Given the description of an element on the screen output the (x, y) to click on. 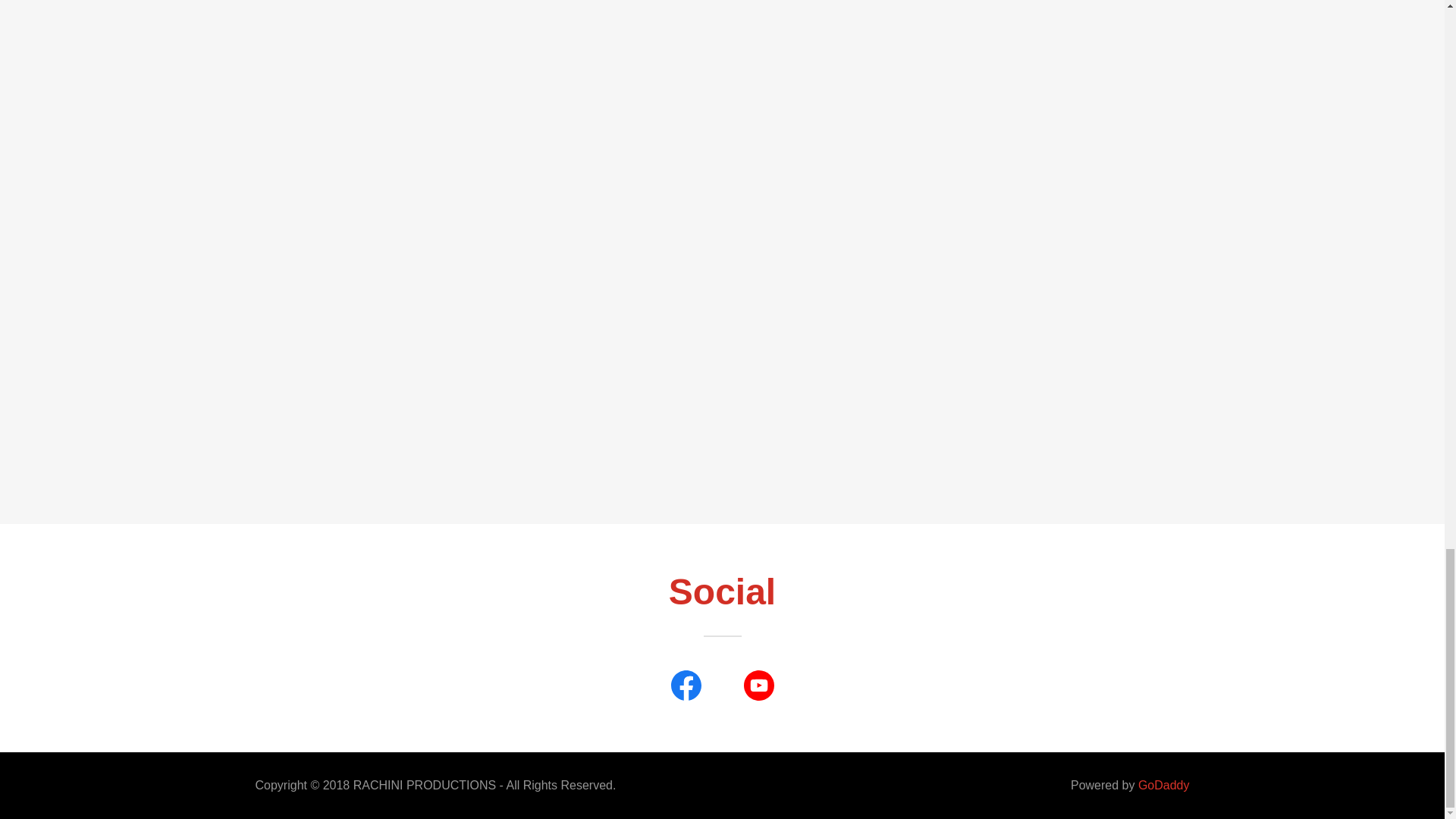
GoDaddy (1163, 784)
